Given the description of an element on the screen output the (x, y) to click on. 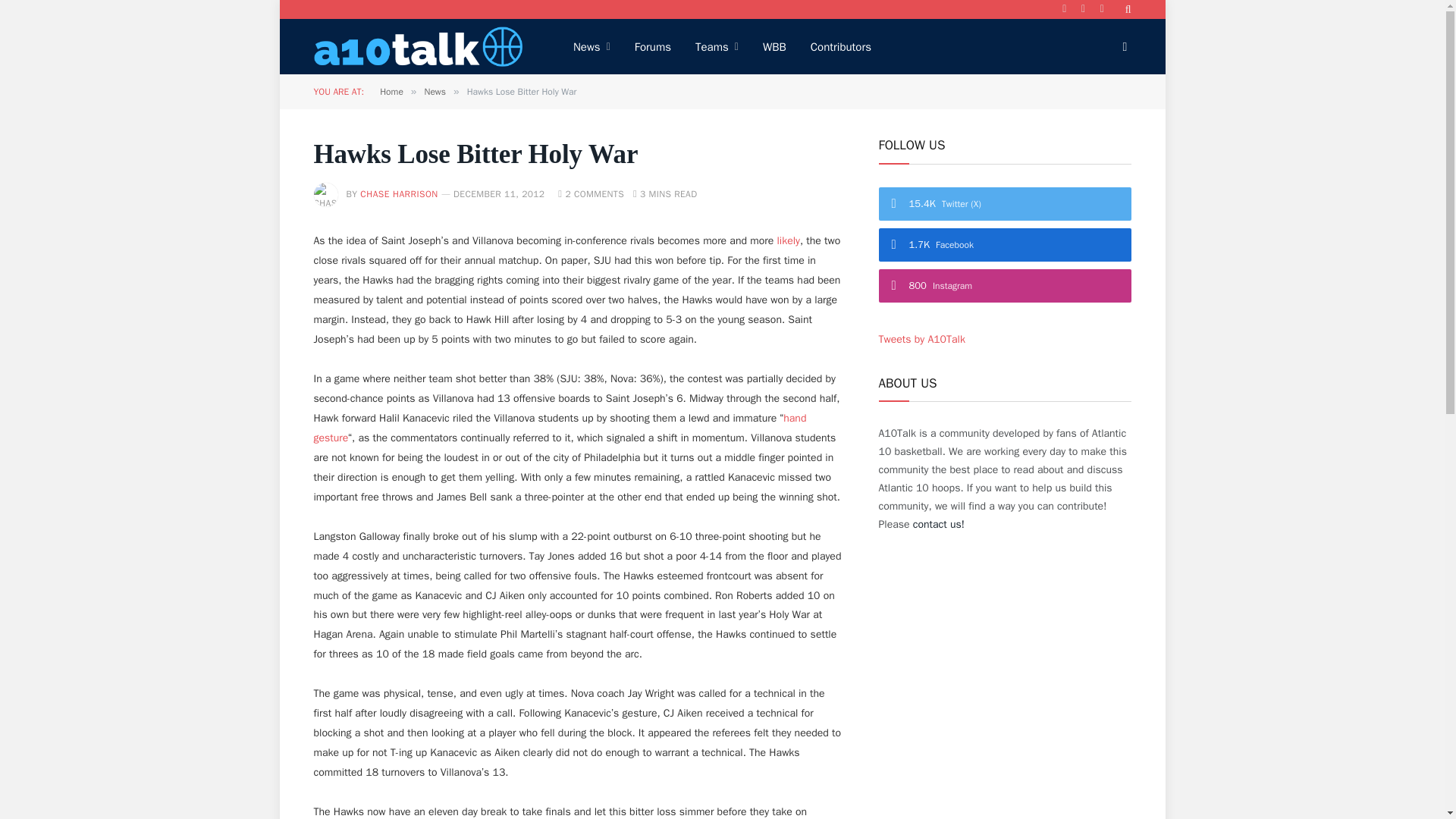
Facebook (1064, 9)
Switch to Dark Design - easier on eyes. (1123, 46)
A10 Talk (418, 46)
likely (787, 240)
Posts by Chase Harrison (398, 193)
News (591, 46)
Instagram (1101, 9)
hand gesture (560, 427)
